Given the description of an element on the screen output the (x, y) to click on. 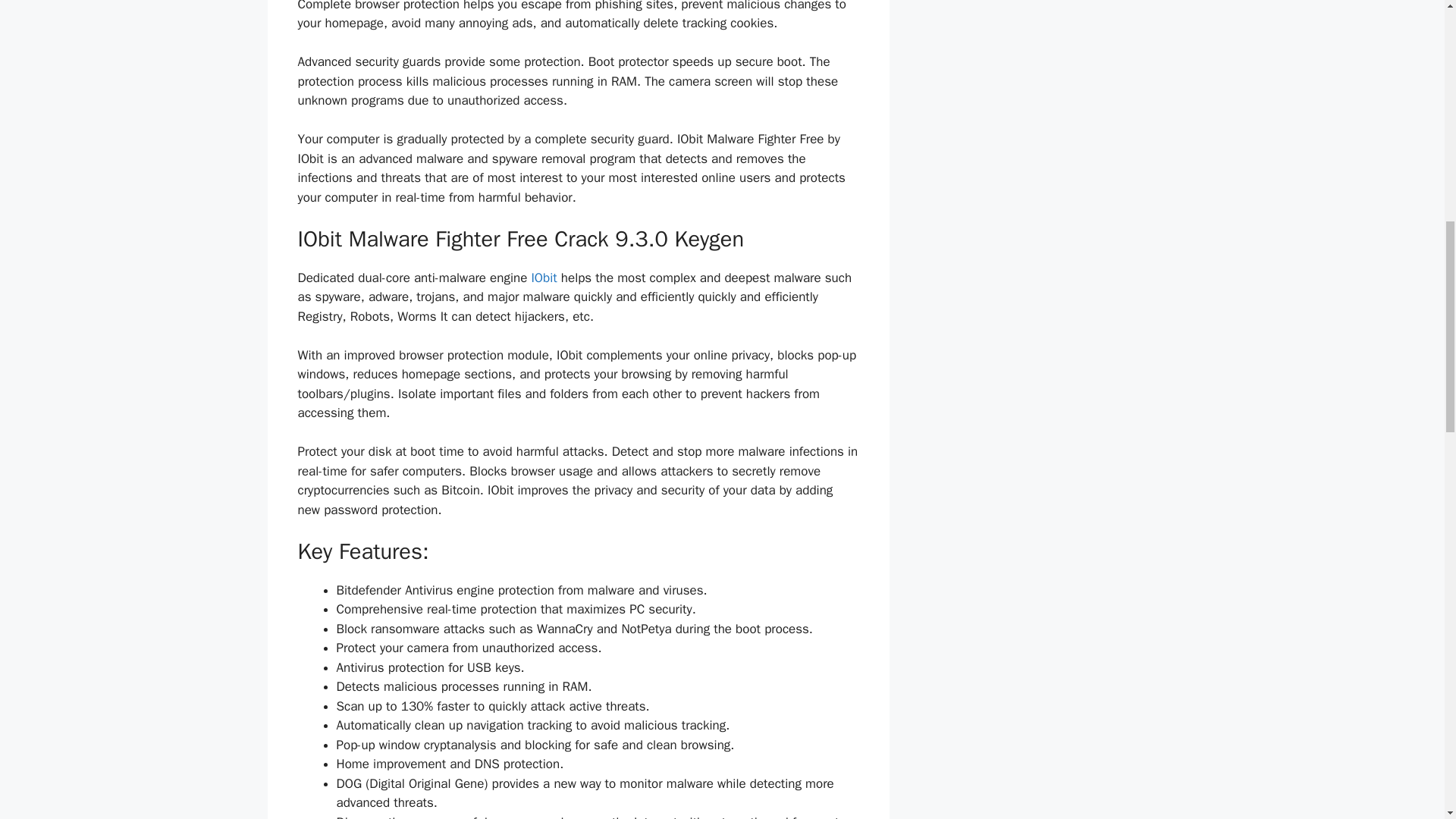
IObit (543, 277)
